Given the description of an element on the screen output the (x, y) to click on. 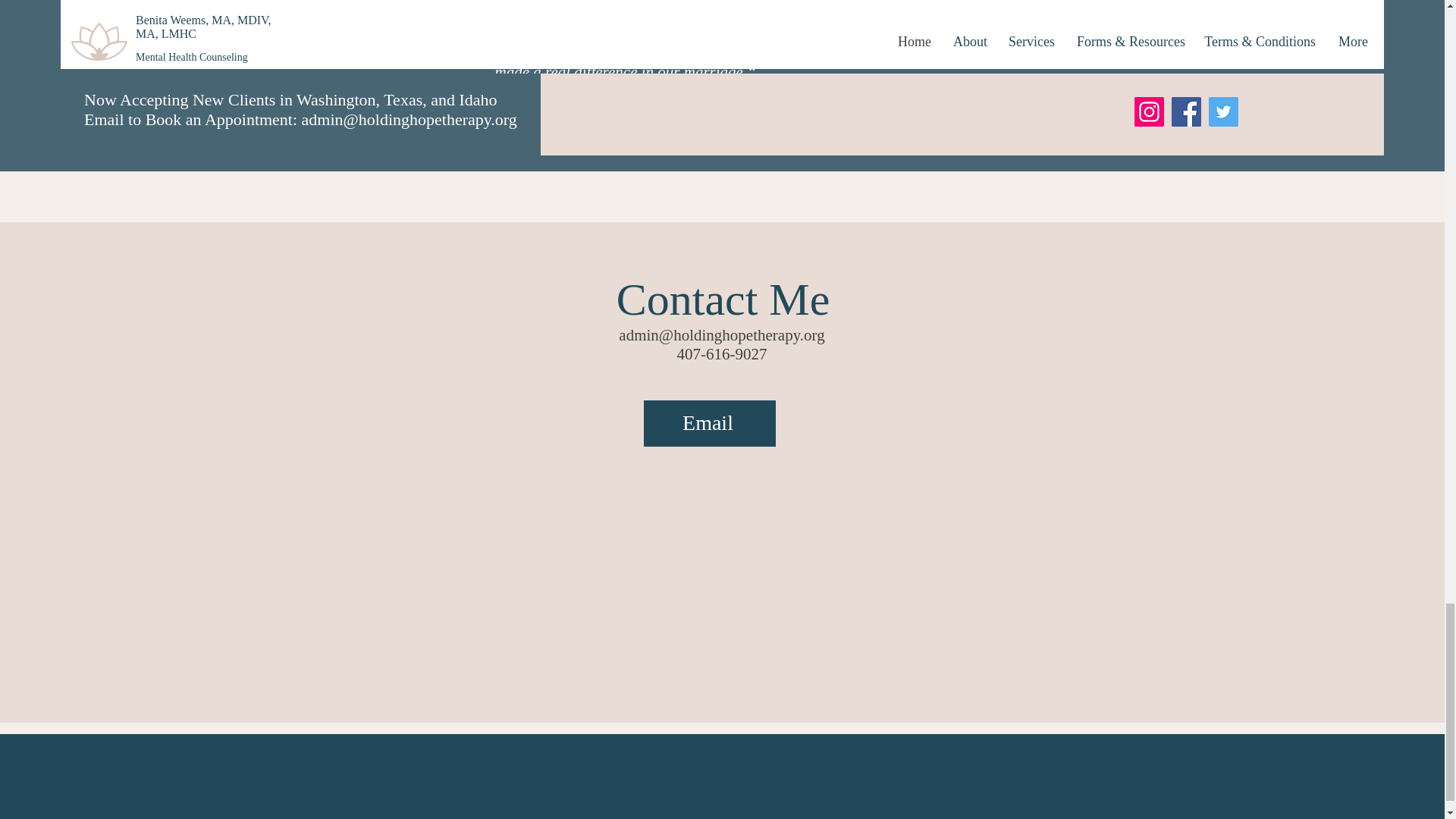
Email (708, 423)
